Given the description of an element on the screen output the (x, y) to click on. 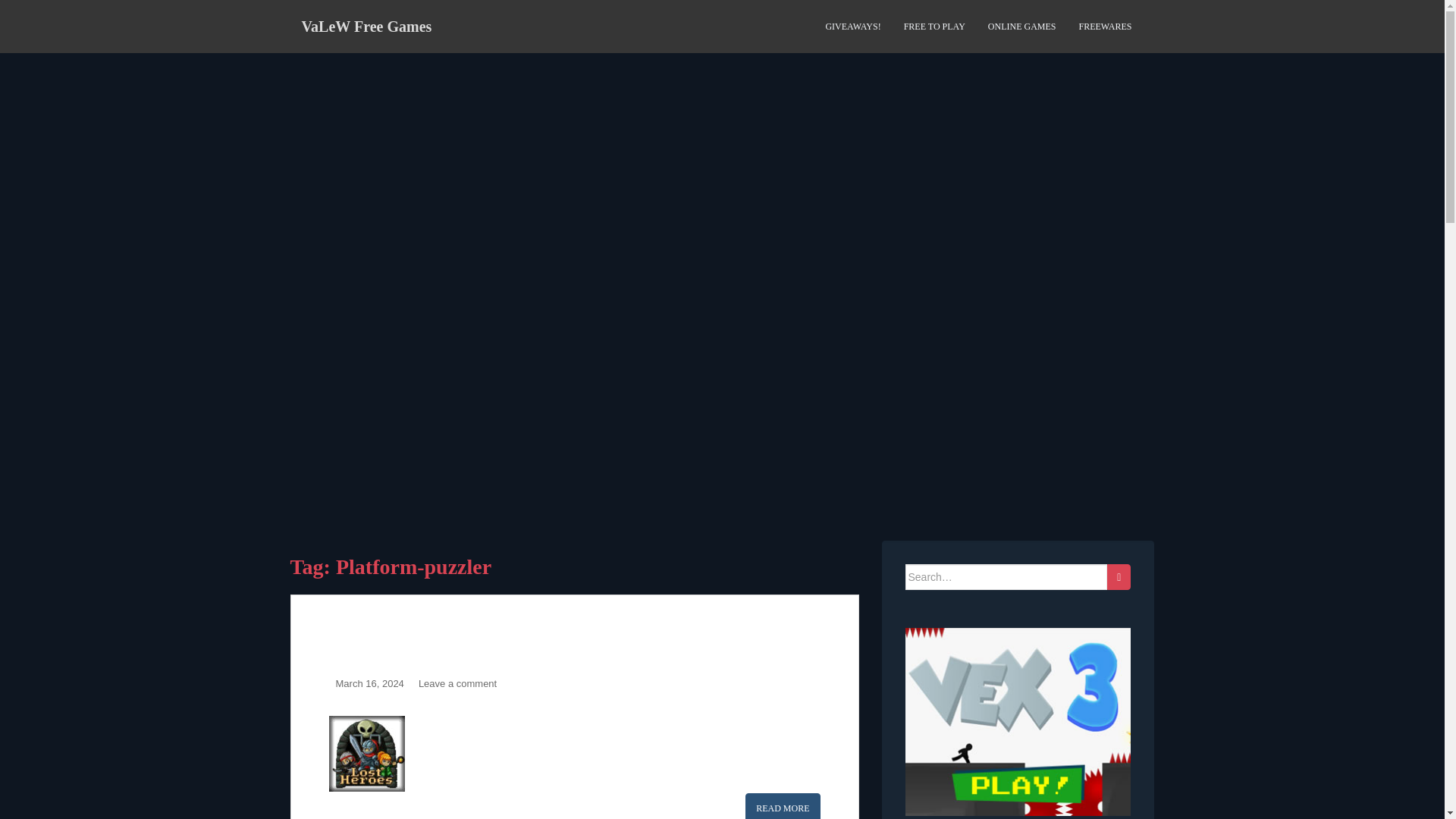
FREE TO PLAY (934, 26)
VaLeW Free Games (365, 26)
READ MORE (782, 806)
ONLINE GAMES (1022, 26)
GIVEAWAYS! (852, 26)
Lost Heroes (782, 806)
Lost Heroes (383, 639)
VaLeW Free Games (365, 26)
Leave a comment (457, 683)
FREEWARES (1104, 26)
March 16, 2024 (370, 683)
